Given the description of an element on the screen output the (x, y) to click on. 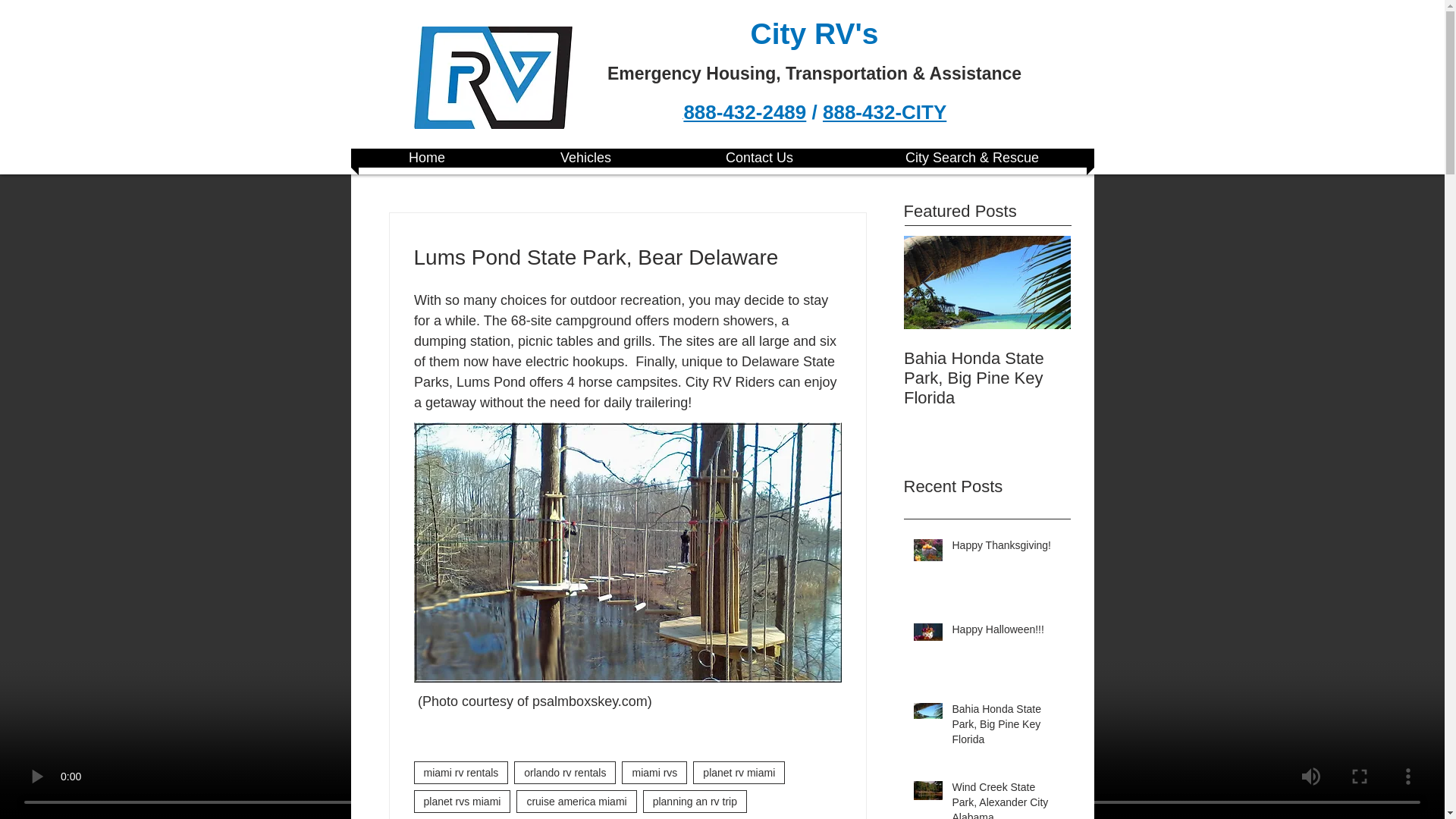
888-432-CITY (884, 111)
Vehicles (585, 157)
miami rv rentals (460, 772)
miami rvs (654, 772)
cruise america miami (576, 801)
Contact Us (759, 157)
planet rvs miami (462, 801)
orlando rv rentals (564, 772)
planet rv miami (738, 772)
City RV's (815, 33)
888-432-2489 (744, 111)
Home (426, 157)
planning an rv trip (694, 801)
